Given the description of an element on the screen output the (x, y) to click on. 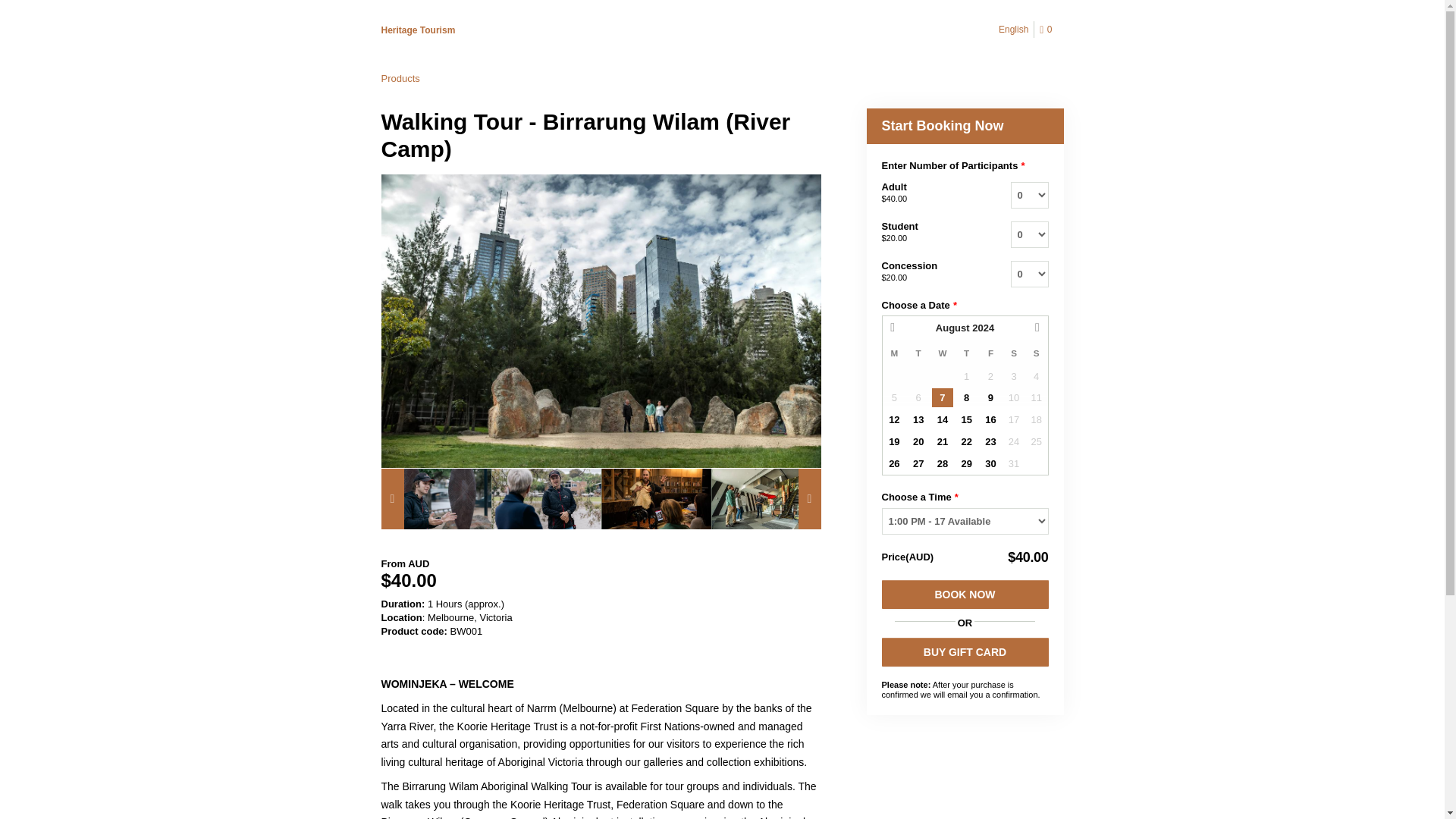
Products (399, 78)
Not available (917, 397)
Not available (1014, 376)
0 (1047, 30)
15 (966, 419)
Available (942, 397)
Available (966, 397)
8 (966, 397)
Not available (1014, 397)
Not available (1036, 397)
